Given the description of an element on the screen output the (x, y) to click on. 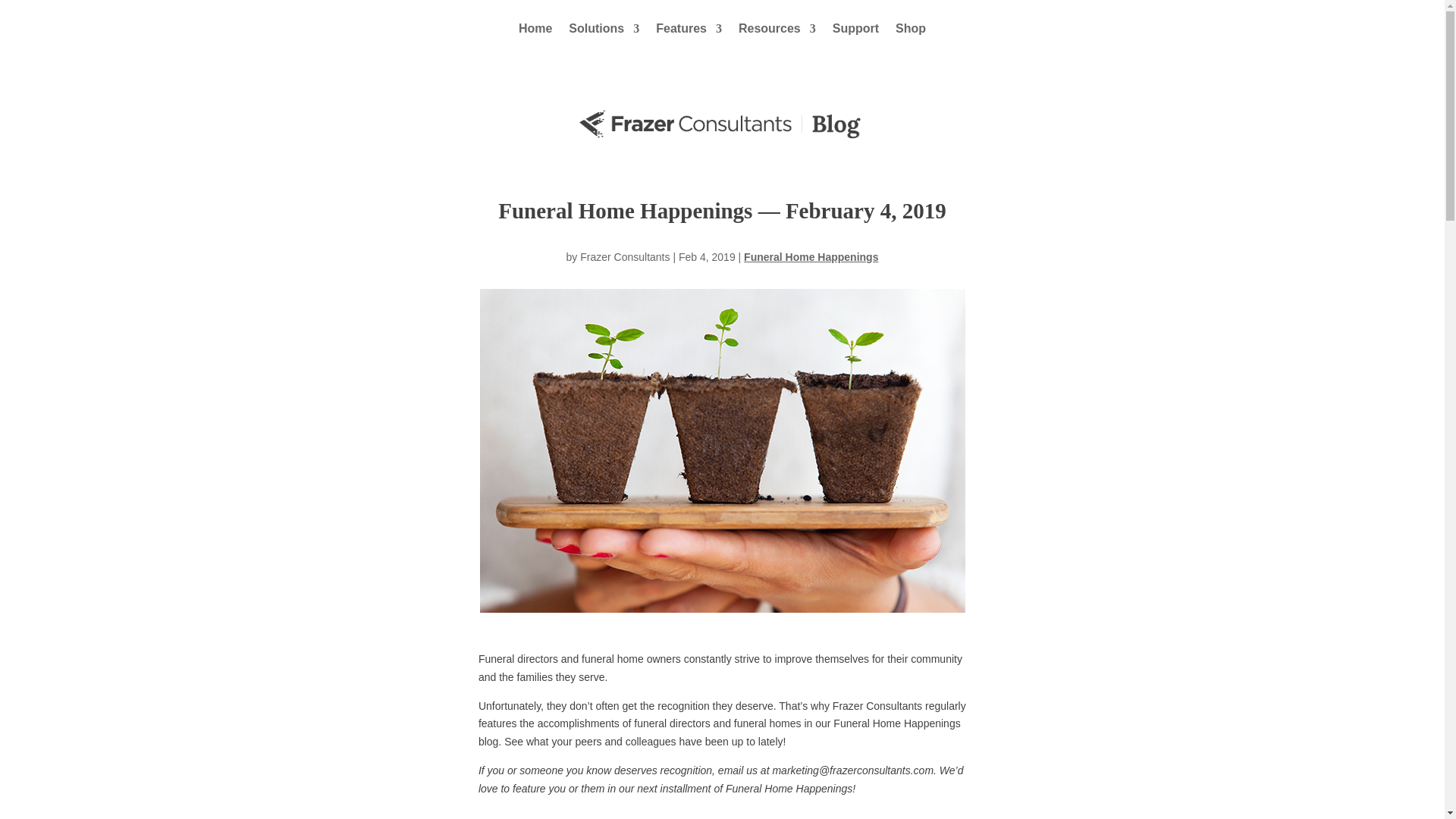
Resources (776, 28)
Solutions (604, 28)
Features (689, 28)
Posts by Frazer Consultants (624, 256)
